Given the description of an element on the screen output the (x, y) to click on. 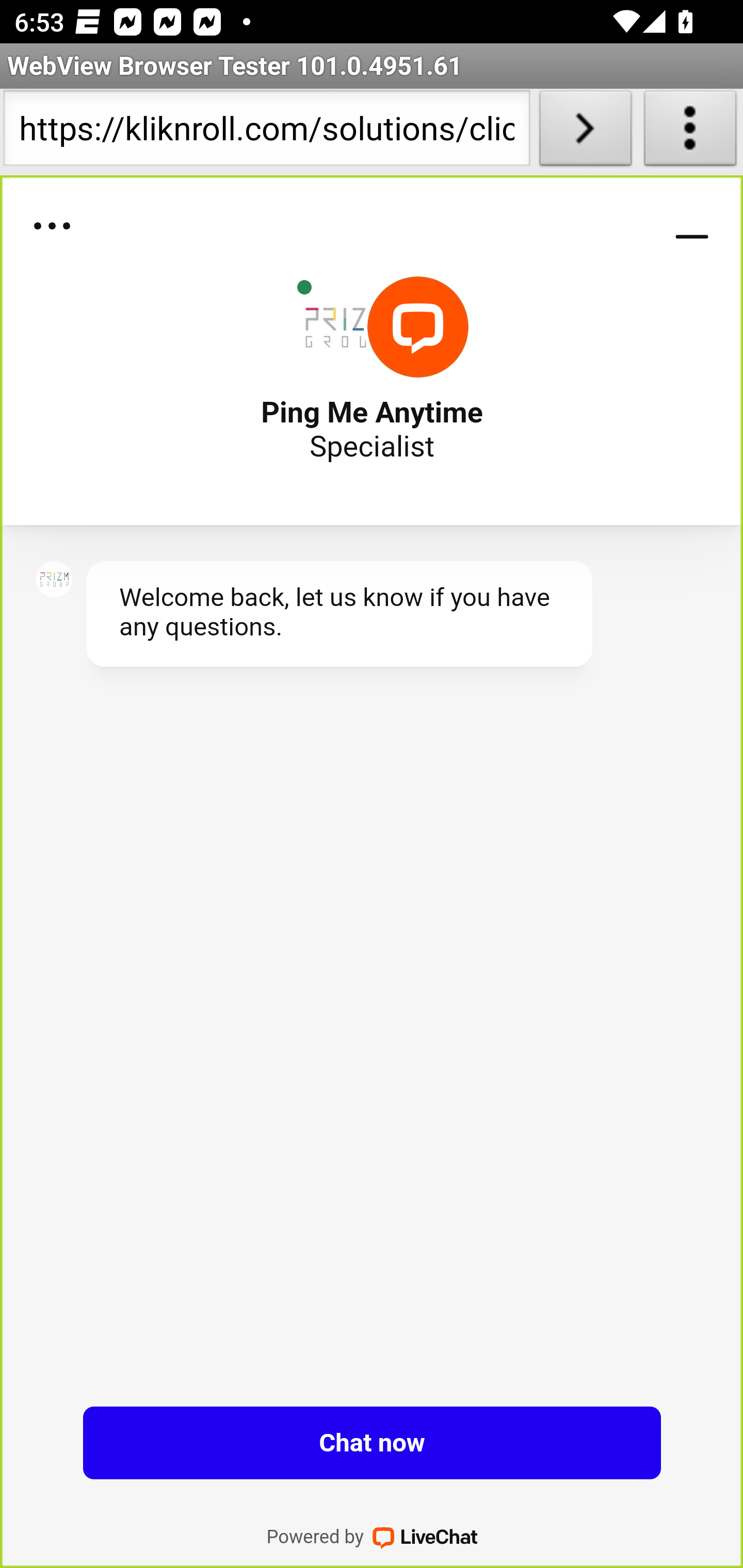
Load URL (585, 132)
About WebView (690, 132)
